Given the description of an element on the screen output the (x, y) to click on. 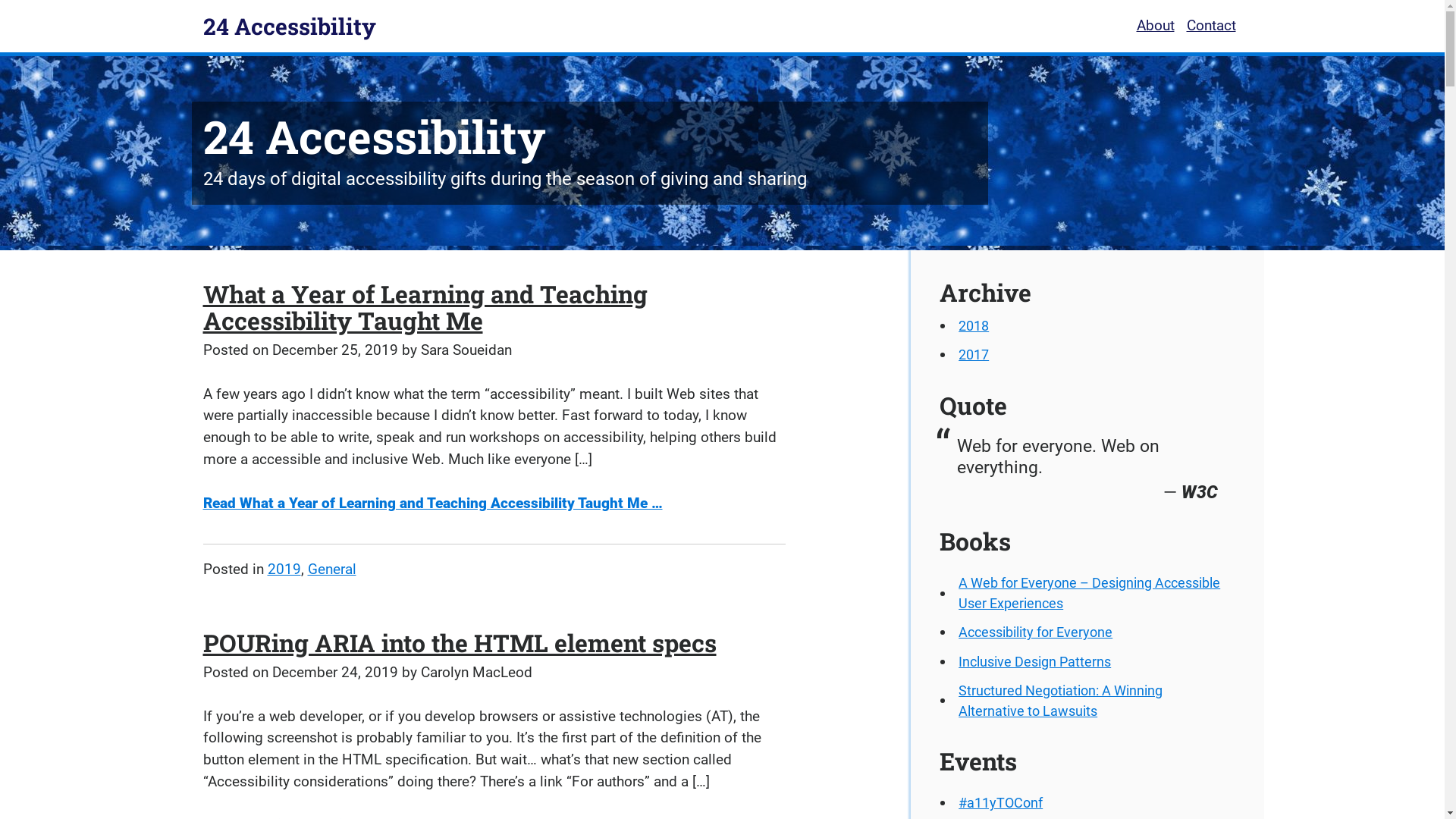
What a Year of Learning and Teaching Accessibility Taught Me Element type: text (425, 306)
Accessibility for Everyone Element type: text (1035, 632)
POURing ARIA into the HTML element specs Element type: text (459, 642)
2019 Element type: text (283, 568)
Contact Element type: text (1210, 26)
Inclusive Design Patterns Element type: text (1034, 661)
24 Accessibility Element type: text (289, 25)
2017 Element type: text (973, 355)
#a11yTOConf Element type: text (1000, 802)
2018 Element type: text (973, 325)
Structured Negotiation: A Winning Alternative to Lawsuits Element type: text (1094, 700)
General Element type: text (331, 568)
About Element type: text (1154, 26)
